Given the description of an element on the screen output the (x, y) to click on. 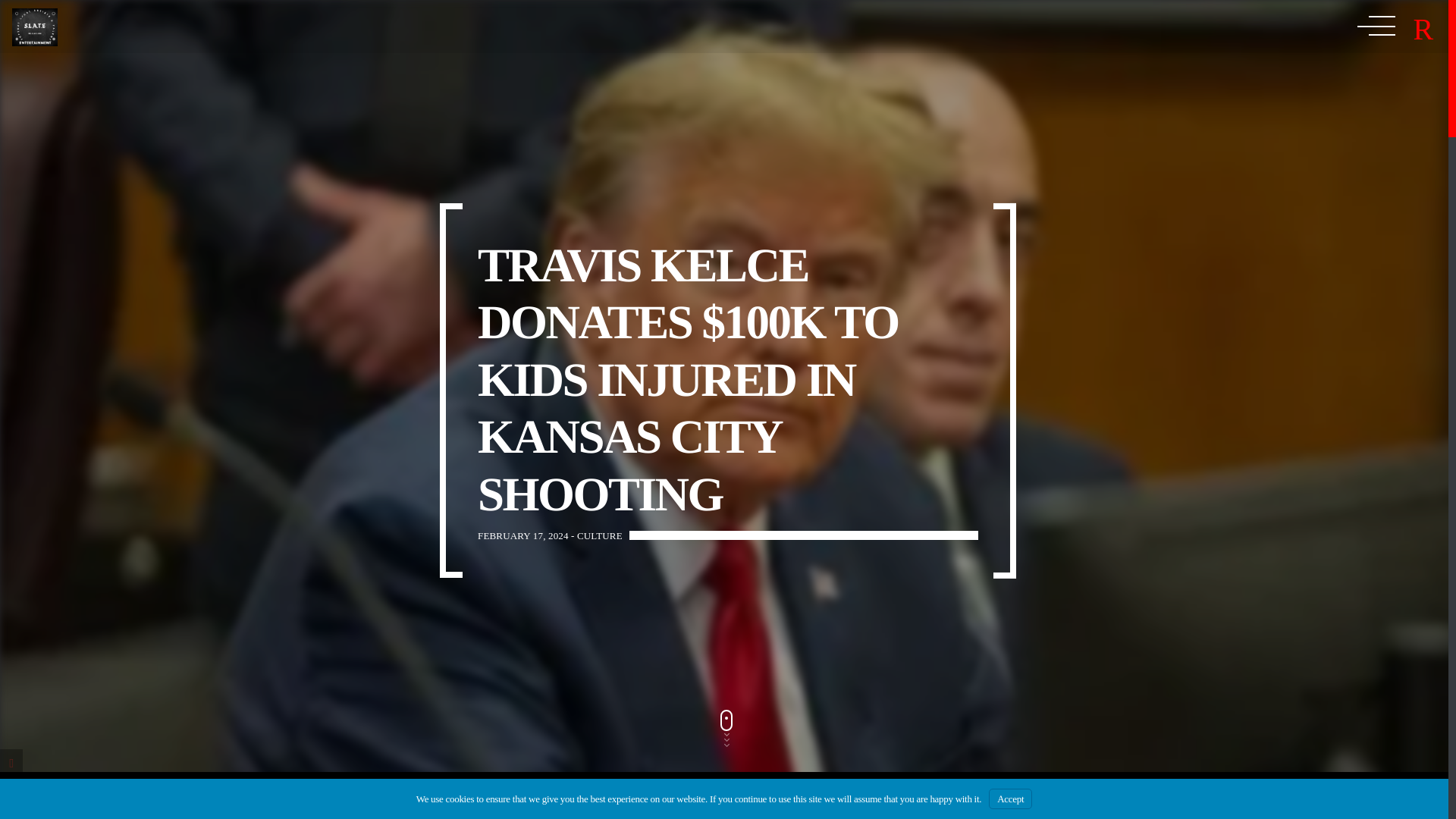
CULTURE (599, 535)
